Given the description of an element on the screen output the (x, y) to click on. 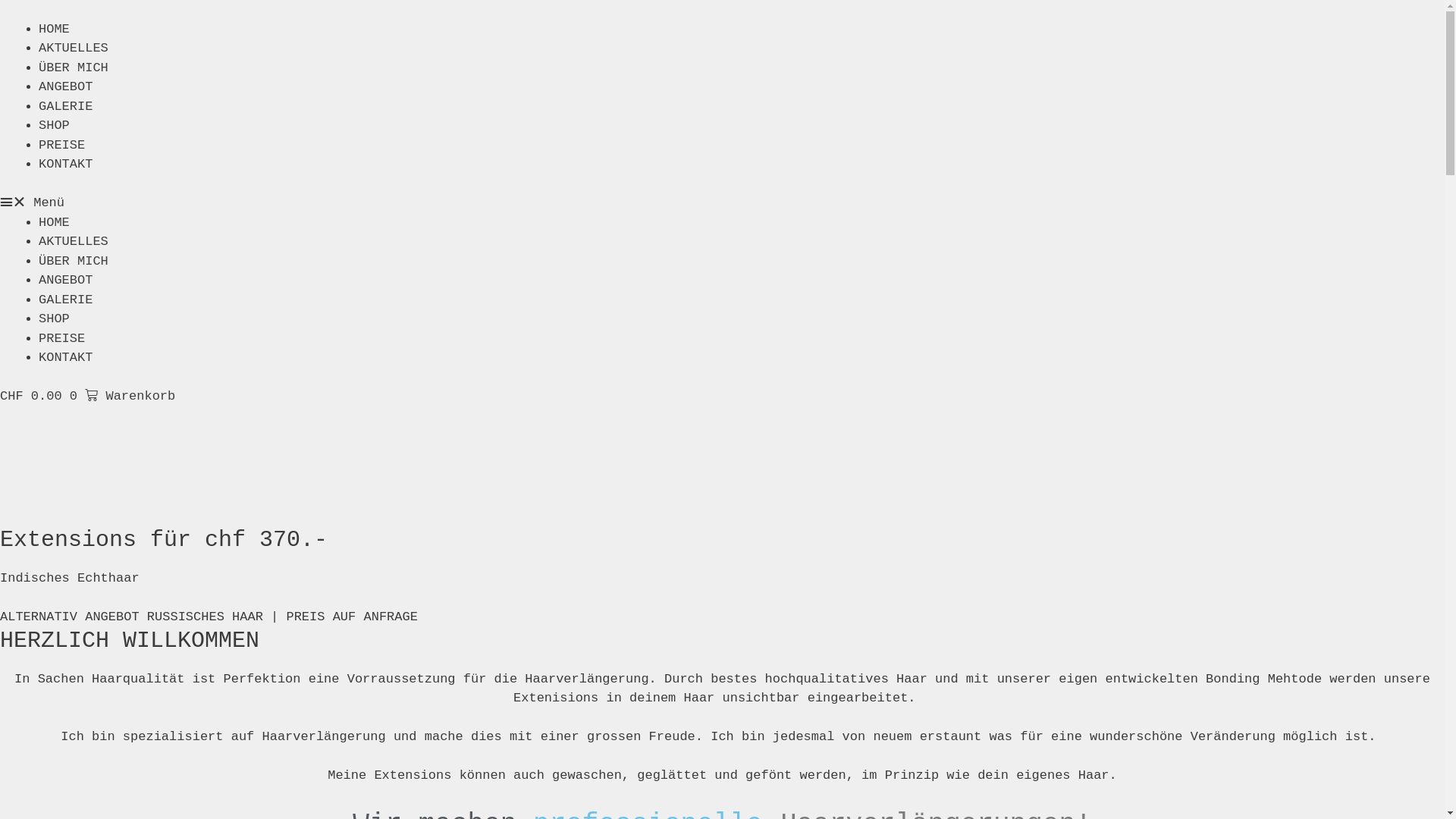
GALERIE Element type: text (65, 299)
CHF 0.00 0 Warenkorb Element type: text (87, 396)
AKTUELLES Element type: text (73, 47)
AKTUELLES Element type: text (73, 241)
HOME Element type: text (53, 28)
KONTAKT Element type: text (65, 357)
PREISE Element type: text (61, 337)
PREISE Element type: text (61, 145)
GALERIE Element type: text (65, 105)
ANGEBOT Element type: text (65, 280)
ANGEBOT Element type: text (65, 86)
KONTAKT Element type: text (65, 163)
SHOP Element type: text (53, 125)
HOME Element type: text (53, 222)
SHOP Element type: text (53, 318)
